Given the description of an element on the screen output the (x, y) to click on. 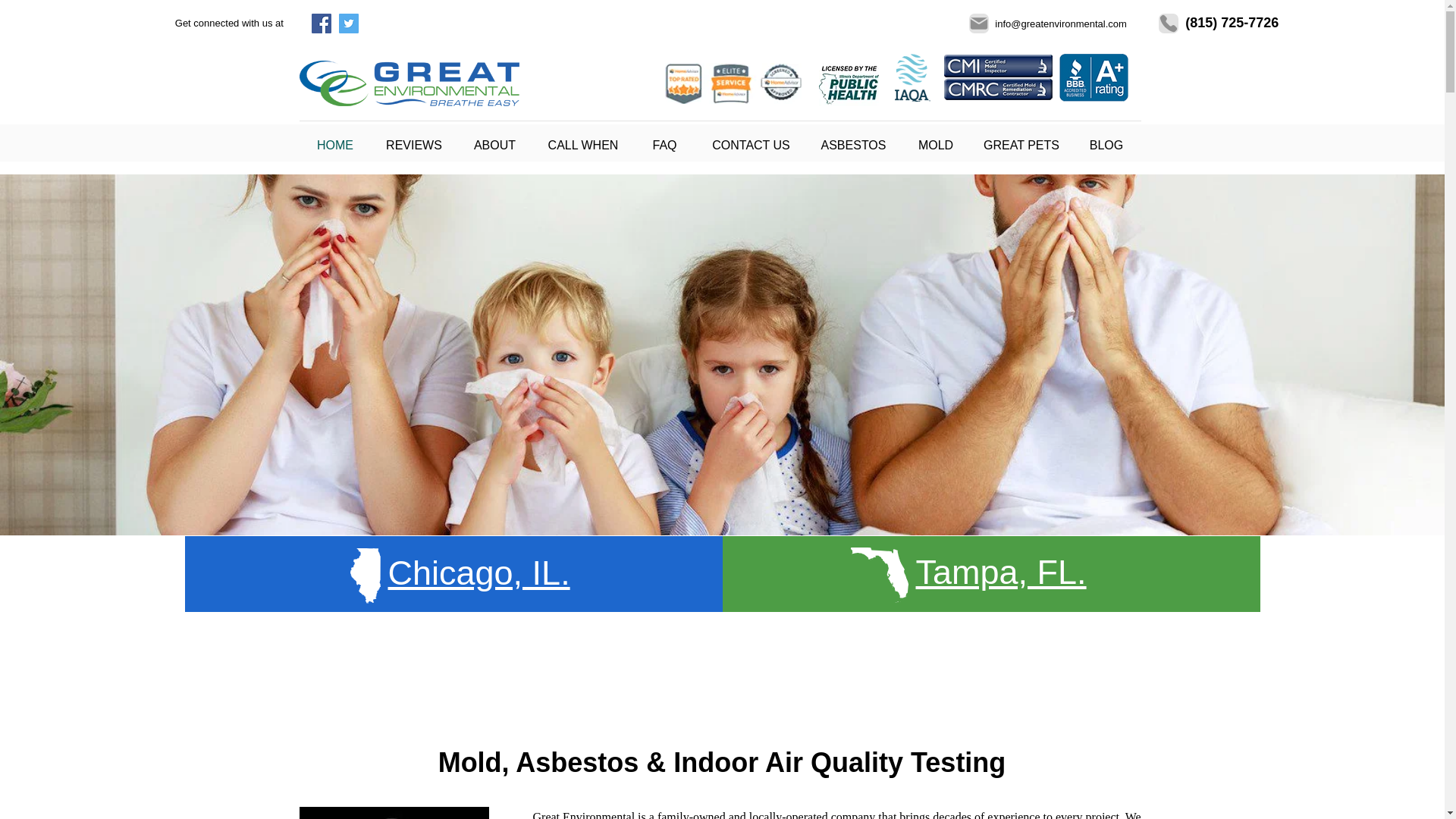
Chicago, IL. (479, 572)
BLOG (1106, 144)
MOLD (936, 144)
GREAT PETS (1021, 144)
FAQ (664, 144)
CONTACT US (750, 144)
ASBESTOS (853, 144)
HOME (334, 144)
REVIEWS (414, 144)
ABOUT (494, 144)
Tampa, FL. (1000, 571)
CALL WHEN (582, 144)
